Given the description of an element on the screen output the (x, y) to click on. 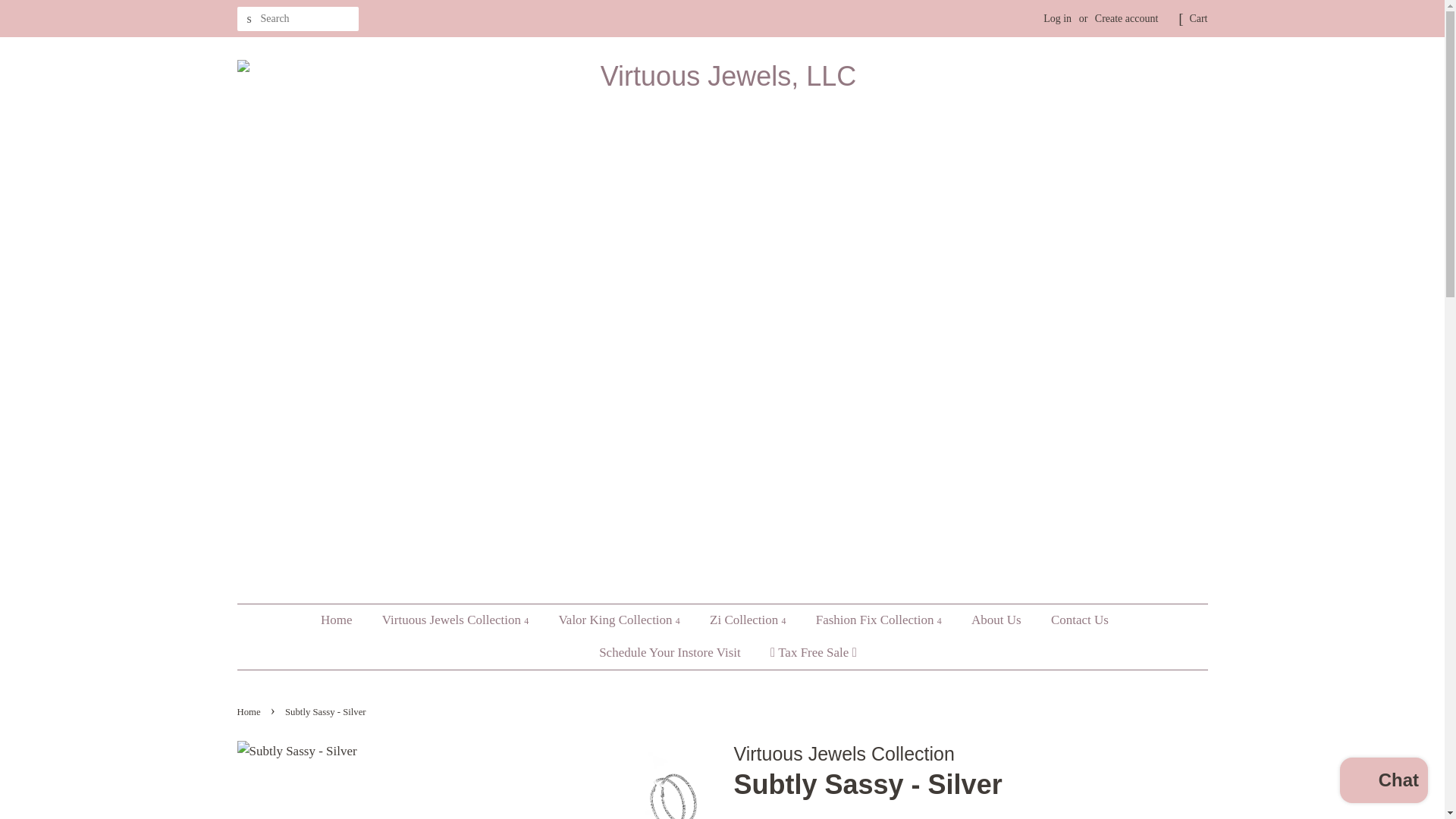
Cart (1198, 18)
Create account (1126, 18)
Search (247, 18)
Back to the frontpage (249, 711)
Log in (1057, 18)
Shopify online store chat (1383, 781)
